Given the description of an element on the screen output the (x, y) to click on. 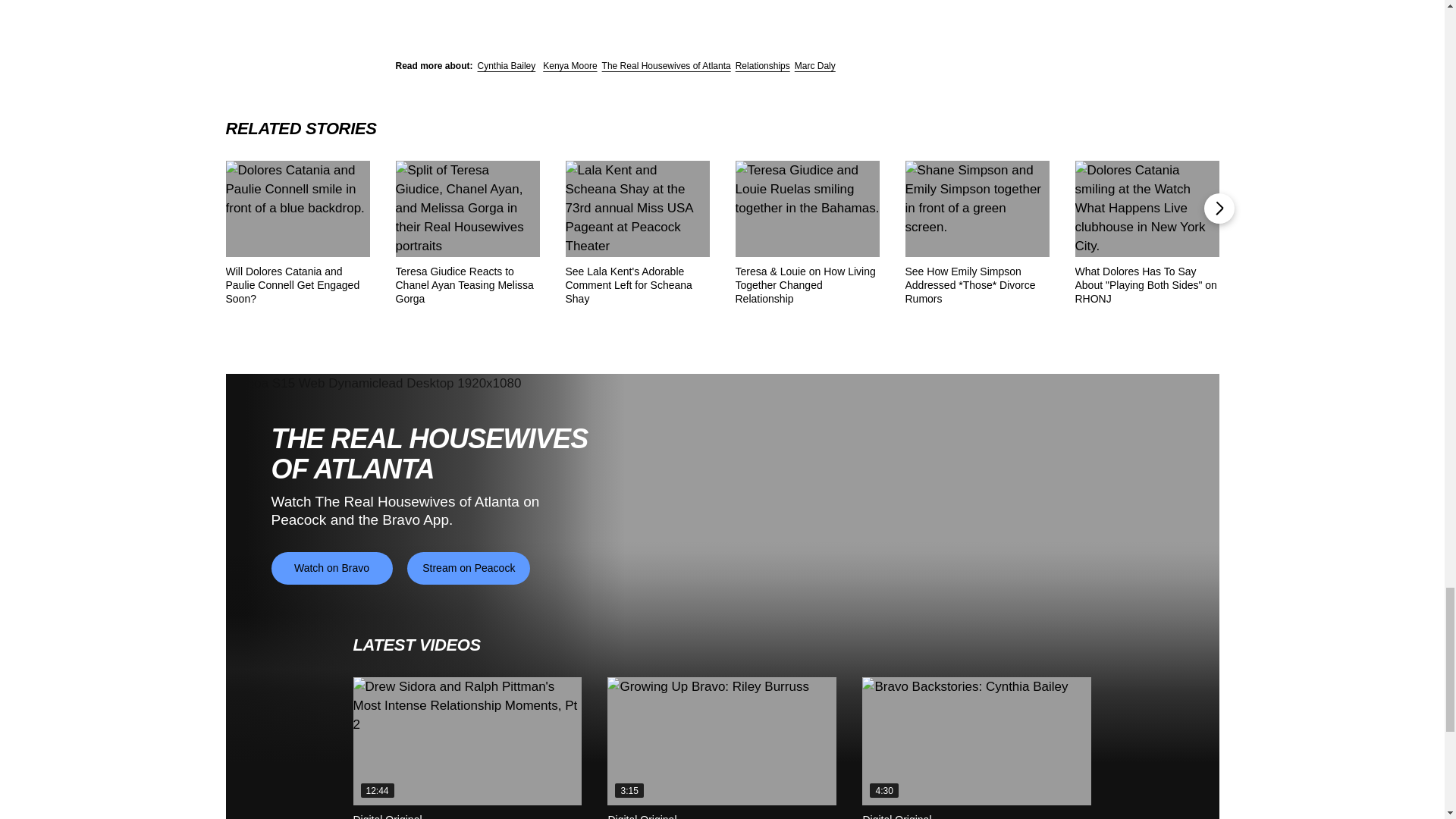
The Real Housewives of Atlanta (666, 65)
Cynthia Bailey (506, 65)
Growing Up Bravo: Riley Burruss (721, 741)
Bravo Backstories: Cynthia Bailey (975, 741)
Kenya Moore (569, 65)
